Given the description of an element on the screen output the (x, y) to click on. 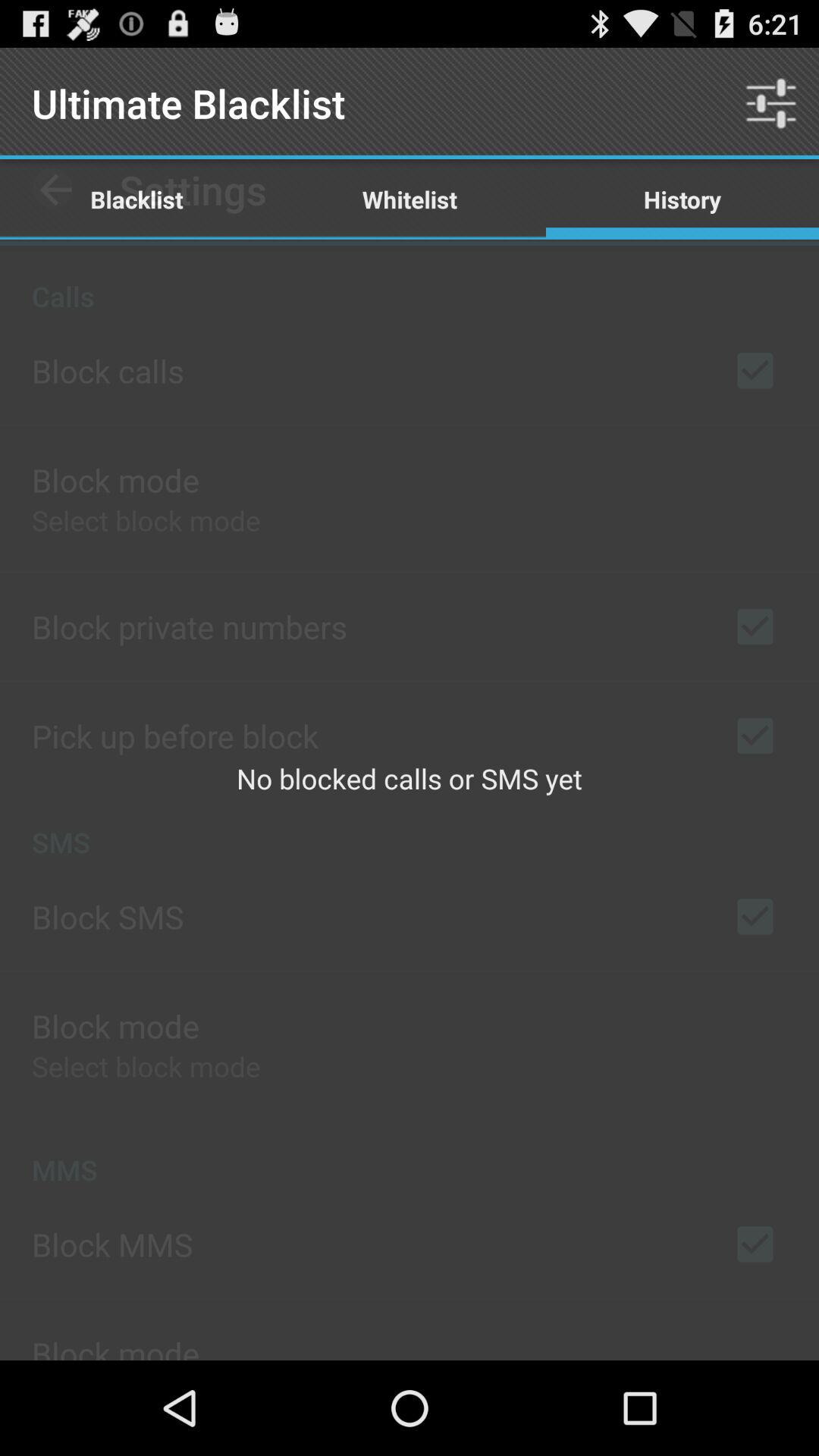
press the app above the no blocked calls item (409, 199)
